Given the description of an element on the screen output the (x, y) to click on. 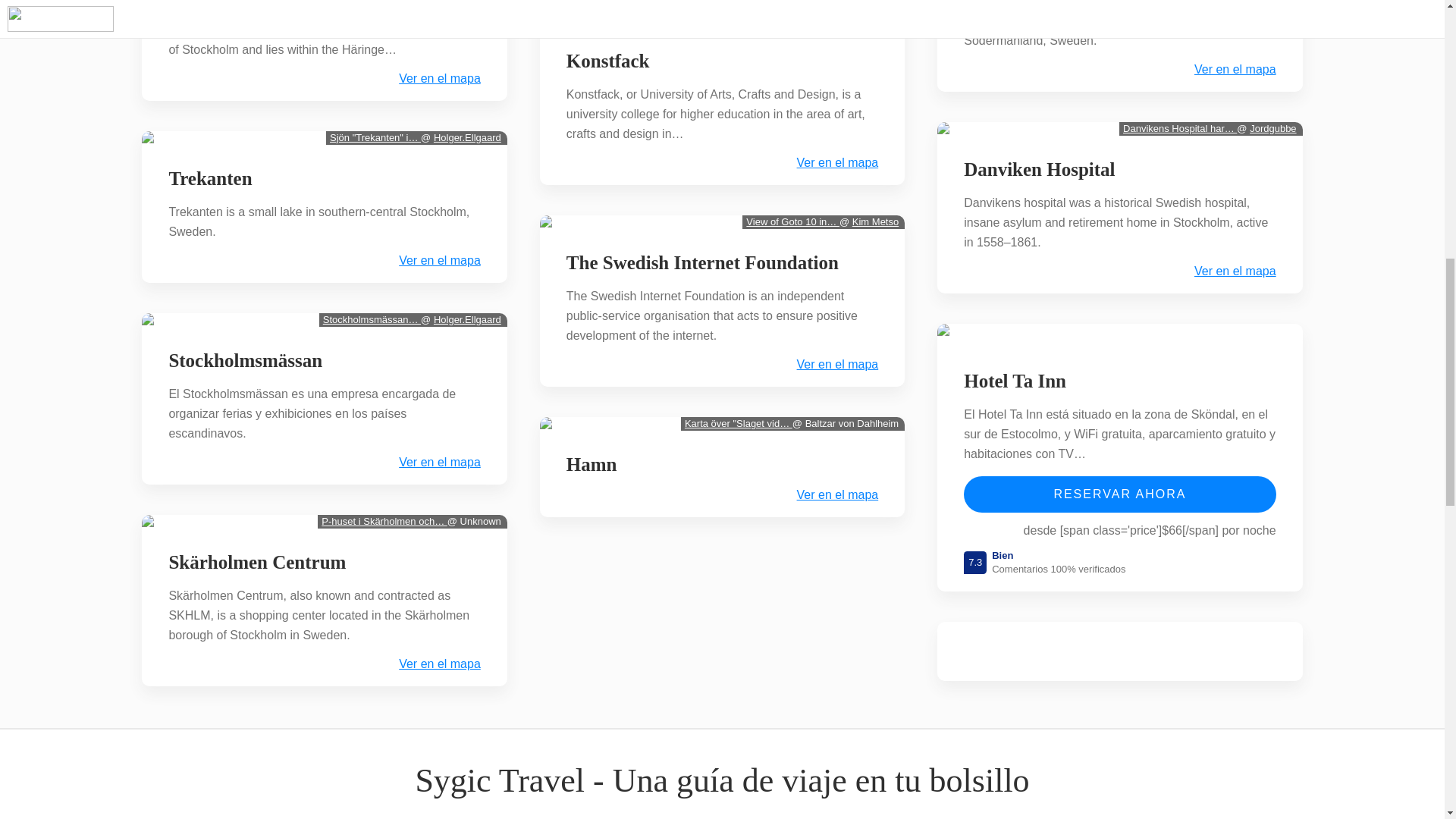
Ver en el mapa (439, 260)
Holger.Ellgaard (466, 137)
Trekanten (209, 178)
Ver en el mapa (439, 462)
Ver en el mapa (439, 78)
Holger.Ellgaard (466, 319)
